Given the description of an element on the screen output the (x, y) to click on. 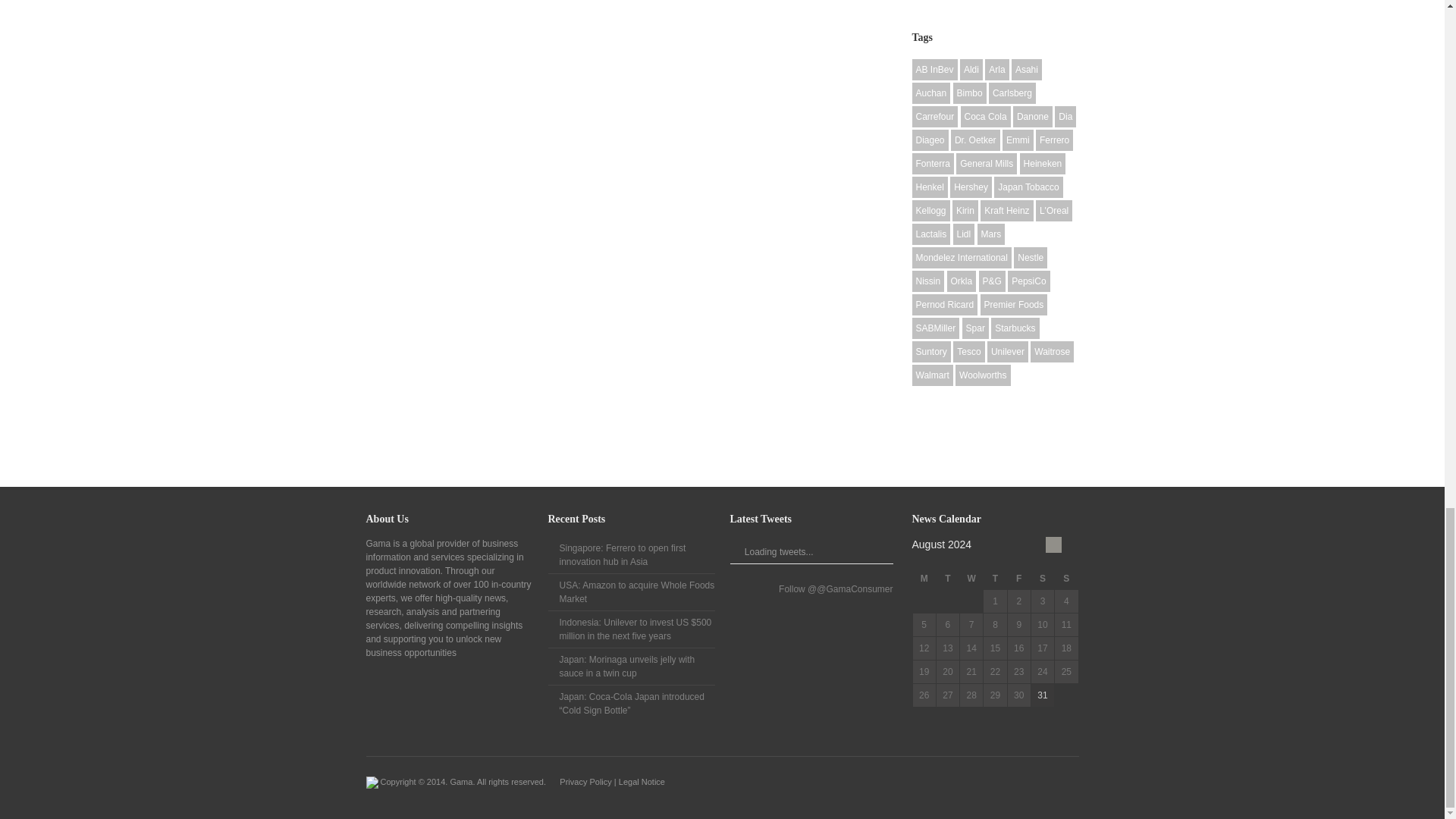
22 topics (970, 69)
24 topics (997, 69)
9 topics (1026, 69)
9 topics (930, 93)
18 topics (933, 69)
